Given the description of an element on the screen output the (x, y) to click on. 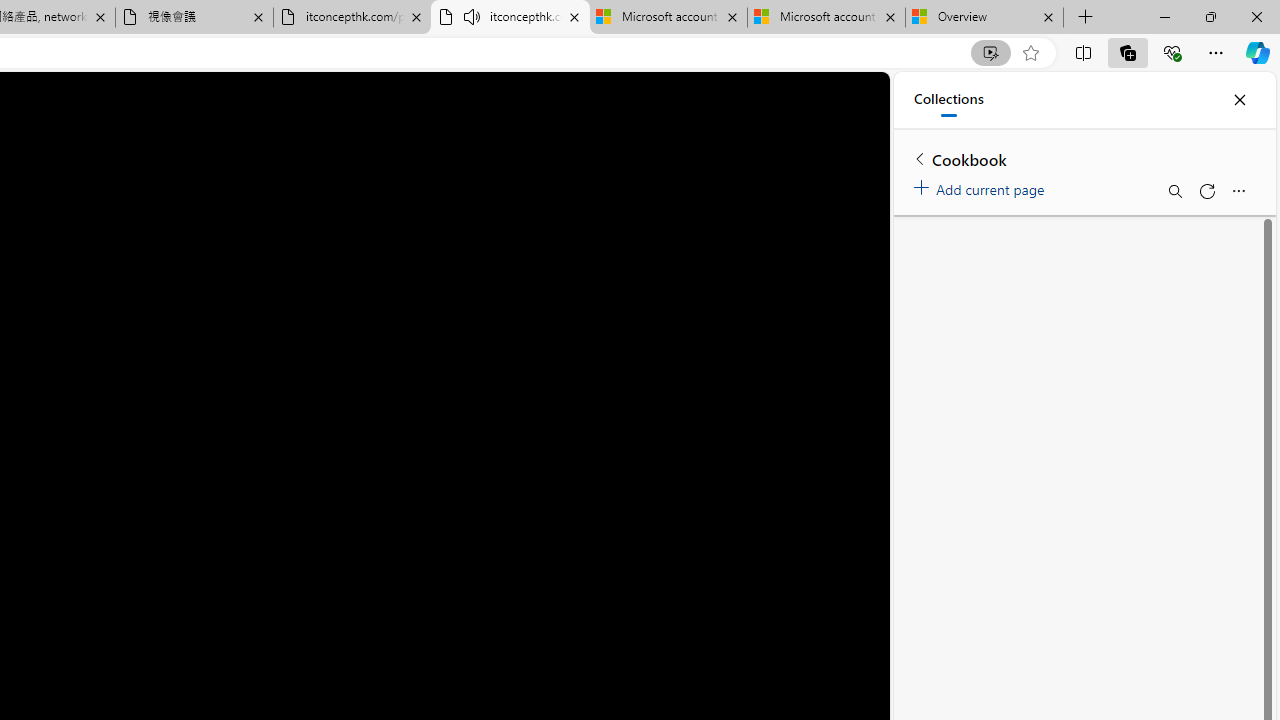
Mute tab (471, 16)
Back to list of collections (920, 158)
